Given the description of an element on the screen output the (x, y) to click on. 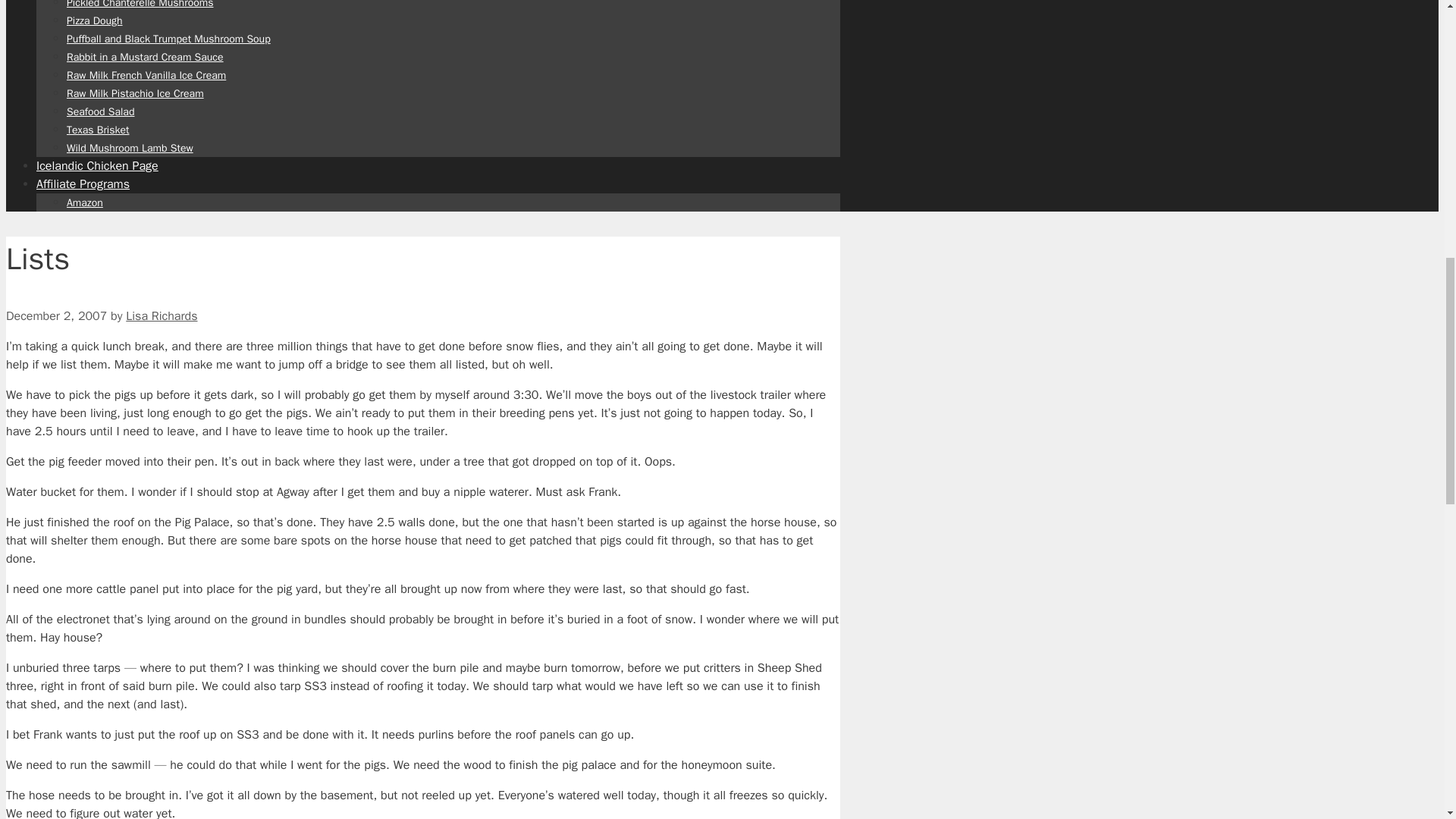
Pizza Dough (94, 19)
Raw Milk Pistachio Ice Cream (134, 92)
Rabbit in a Mustard Cream Sauce (145, 56)
Seafood Salad (99, 110)
Puffball and Black Trumpet Mushroom Soup (168, 38)
View all posts by Lisa Richards (160, 315)
Raw Milk French Vanilla Ice Cream (145, 74)
Pickled Chanterelle Mushrooms (139, 4)
